Given the description of an element on the screen output the (x, y) to click on. 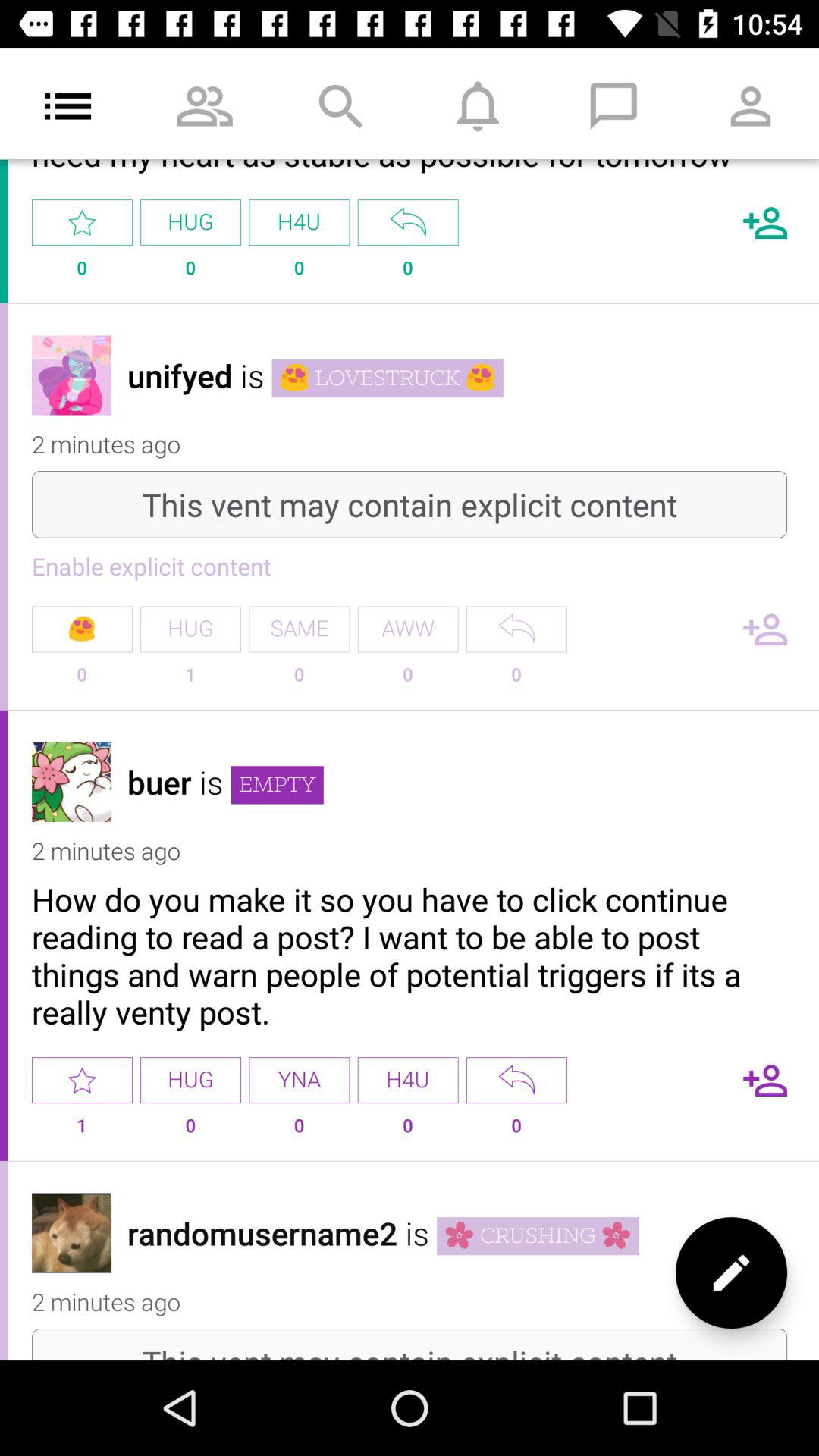
turn on the item to the right of the h4u app (516, 1080)
